Given the description of an element on the screen output the (x, y) to click on. 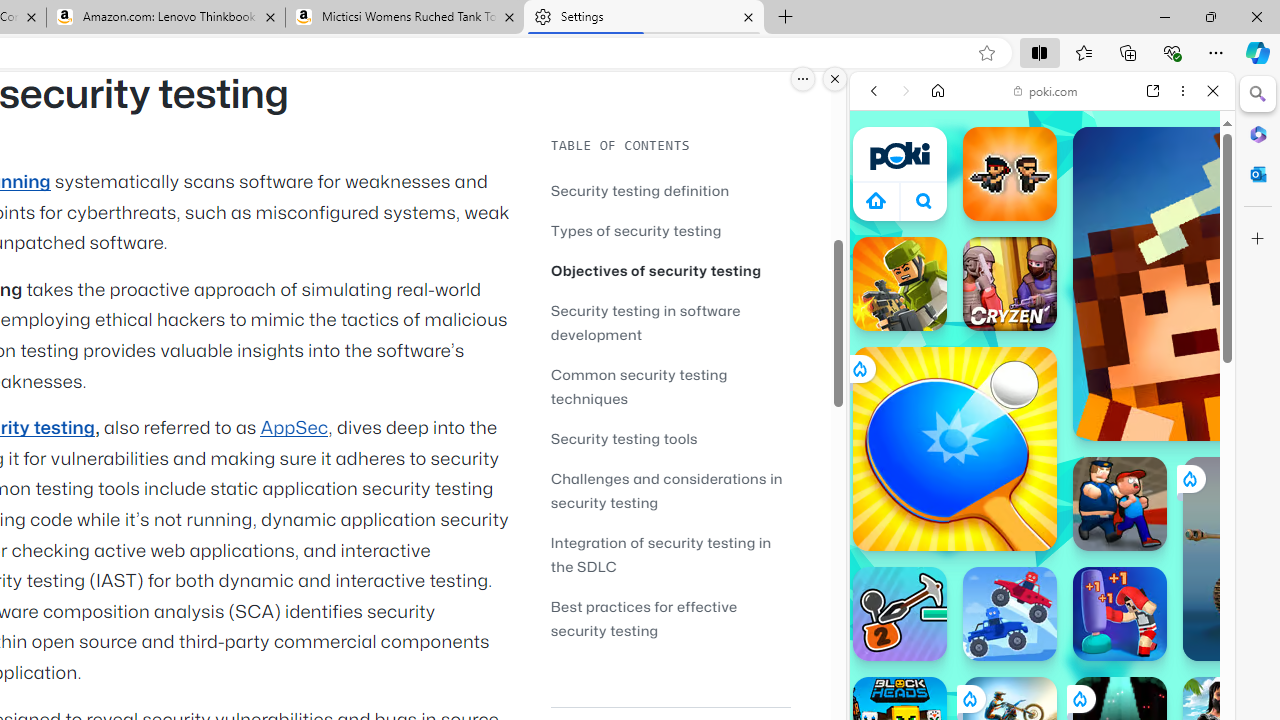
Objectives of security testing (670, 269)
Integration of security testing in the SDLC (670, 553)
Escape From School (1119, 503)
Show More Car Games (1164, 472)
Ping Pong Go! Ping Pong Go! (954, 448)
Car Games (1042, 470)
Security testing in software development (670, 322)
Punch Legend Simulator (1119, 613)
